Given the description of an element on the screen output the (x, y) to click on. 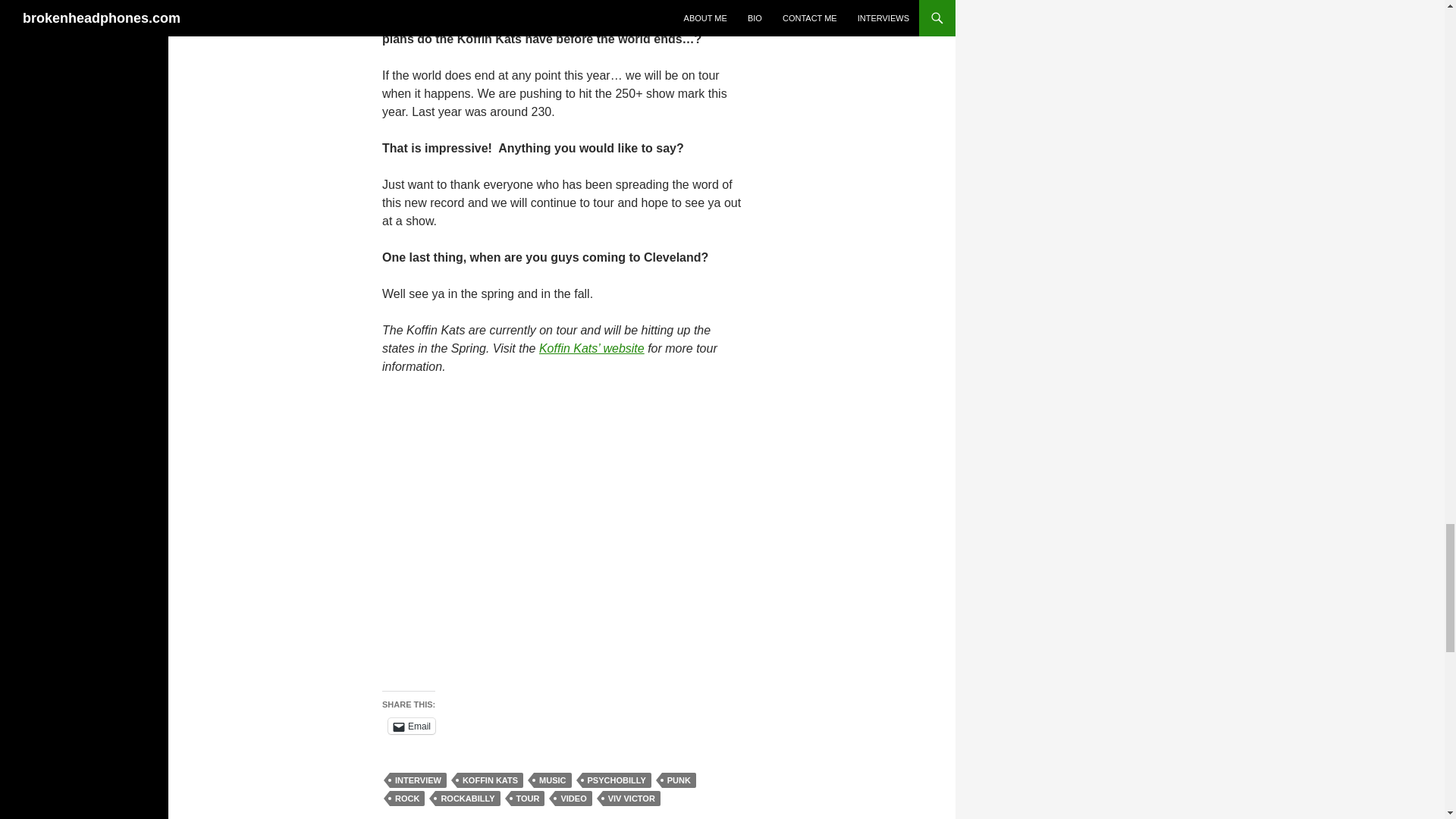
Email (411, 725)
Click to email a link to a friend (411, 725)
INTERVIEW (418, 780)
ROCKABILLY (467, 798)
MUSIC (552, 780)
ROCK (407, 798)
VIV VICTOR (631, 798)
TOUR (527, 798)
PSYCHOBILLY (616, 780)
VIDEO (572, 798)
PUNK (678, 780)
KOFFIN KATS (489, 780)
